Given the description of an element on the screen output the (x, y) to click on. 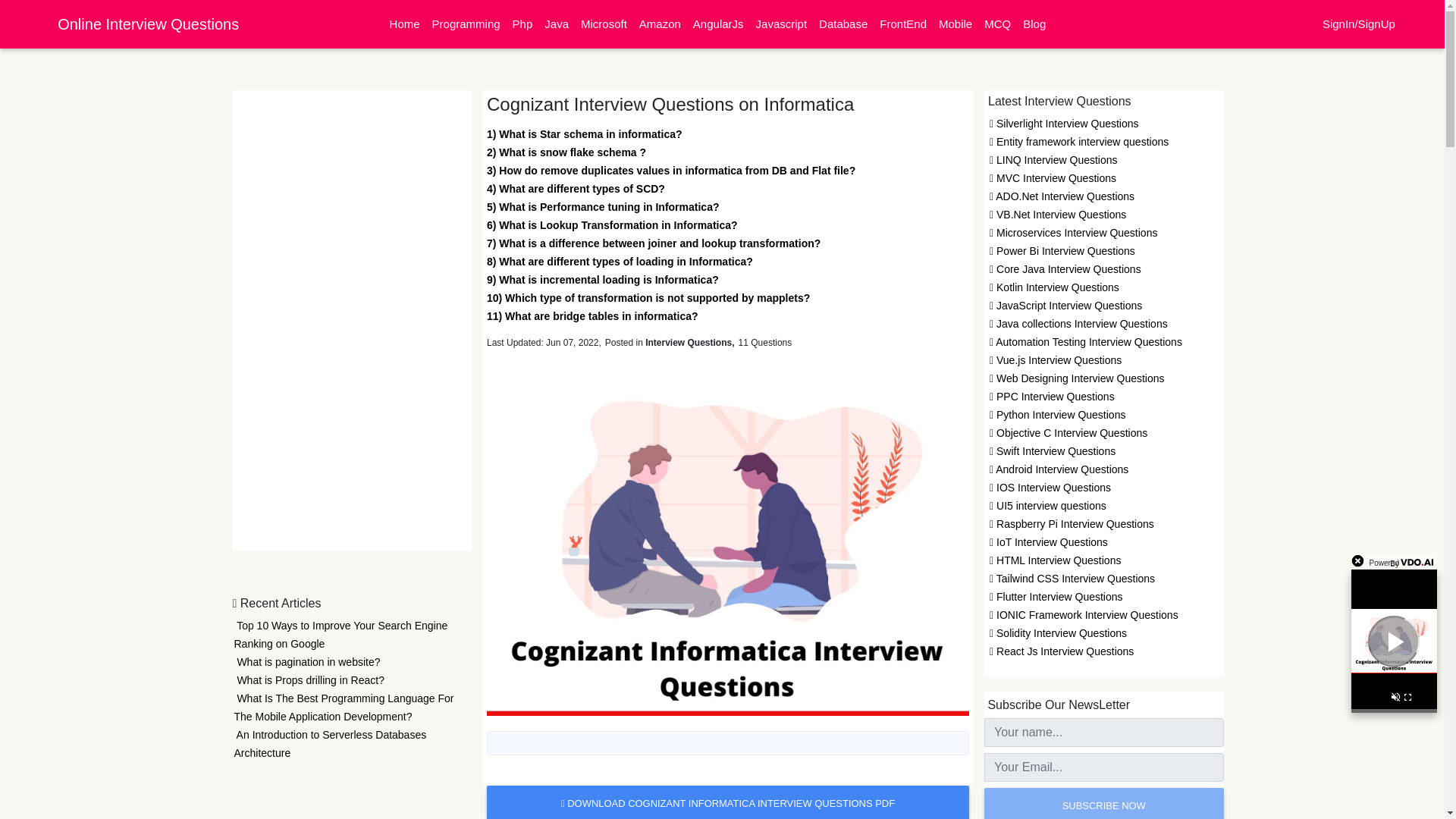
Amazon (660, 24)
What is pagination in website? (306, 662)
FrontEnd (903, 24)
Home (405, 24)
MCQ (997, 24)
Play (1394, 640)
Unmute (1395, 699)
Online Interview Questions (148, 24)
